Given the description of an element on the screen output the (x, y) to click on. 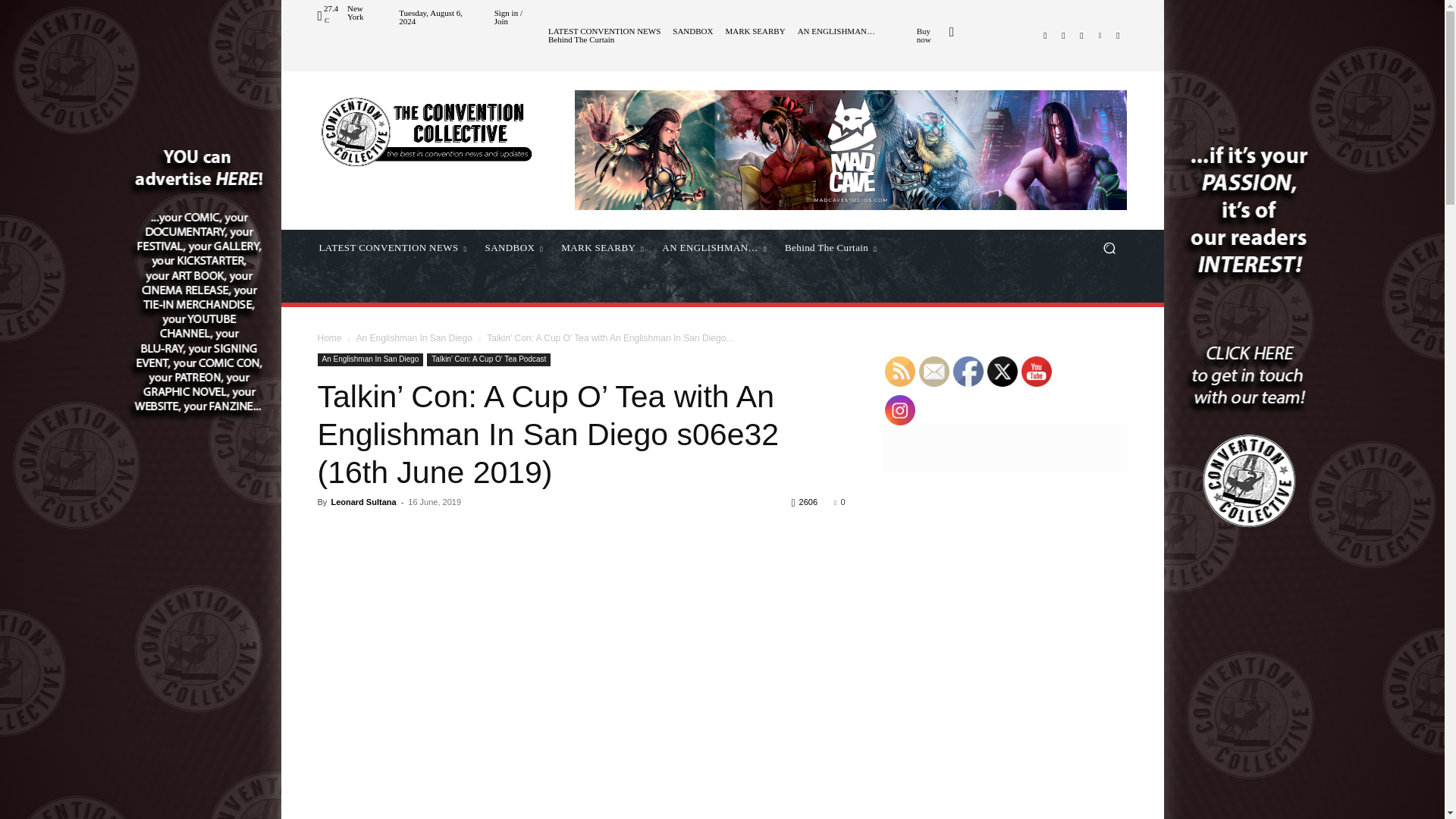
Twitter (1080, 35)
Mad Cave Studios featured (850, 149)
SANDBOX (692, 31)
Facebook (1044, 35)
Instagram (1062, 35)
Vimeo (1099, 35)
LATEST CONVENTION NEWS (604, 31)
Youtube (1117, 35)
